Given the description of an element on the screen output the (x, y) to click on. 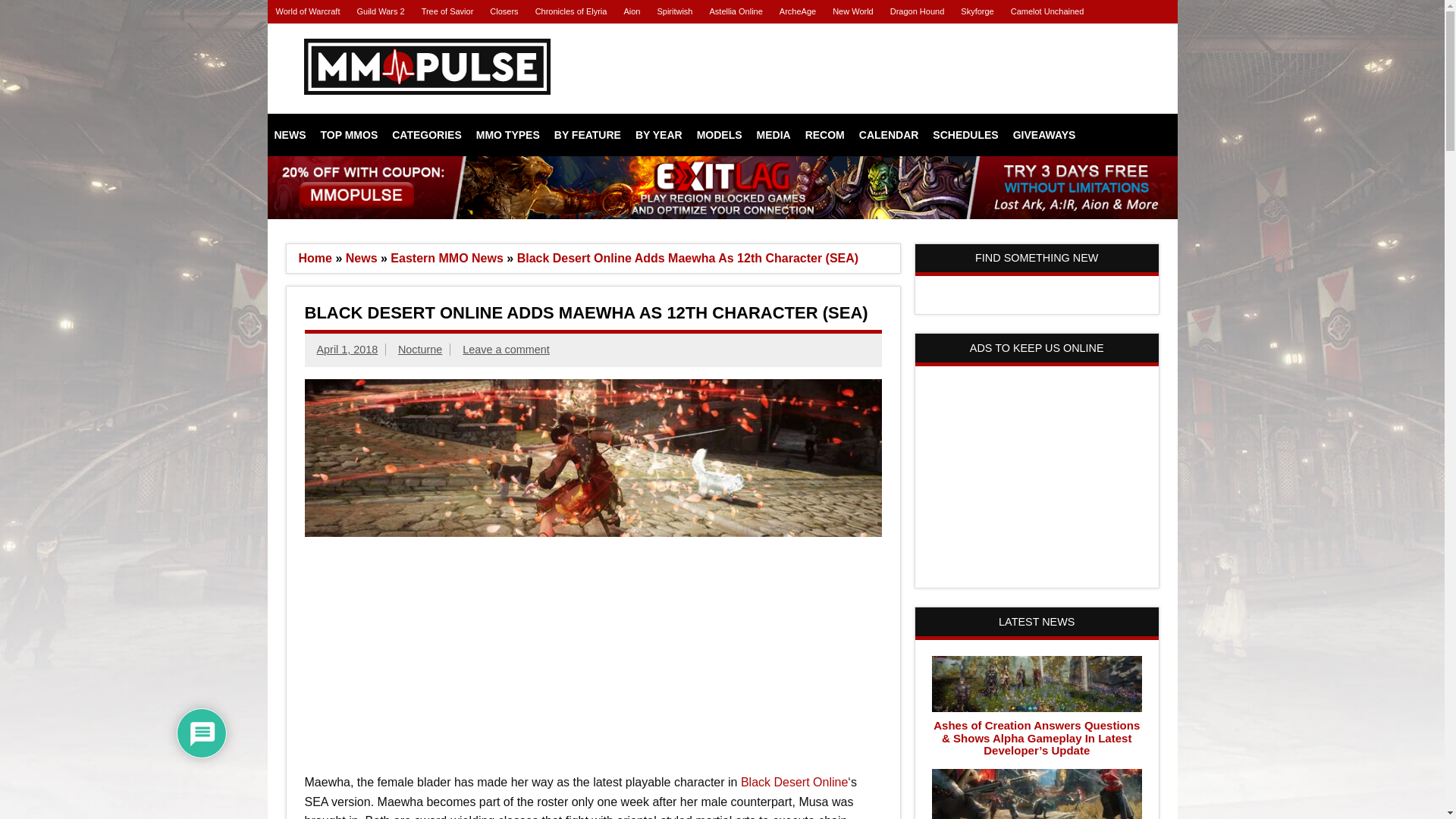
Tree of Savior (447, 11)
Aion (630, 11)
World of Warcraft (306, 11)
ArcheAge (797, 11)
Astellia Online (735, 11)
NEWS (289, 134)
New World (853, 11)
6:50 pm (347, 349)
View all posts by Nocturne (419, 349)
Chronicles of Elyria (571, 11)
